Given the description of an element on the screen output the (x, y) to click on. 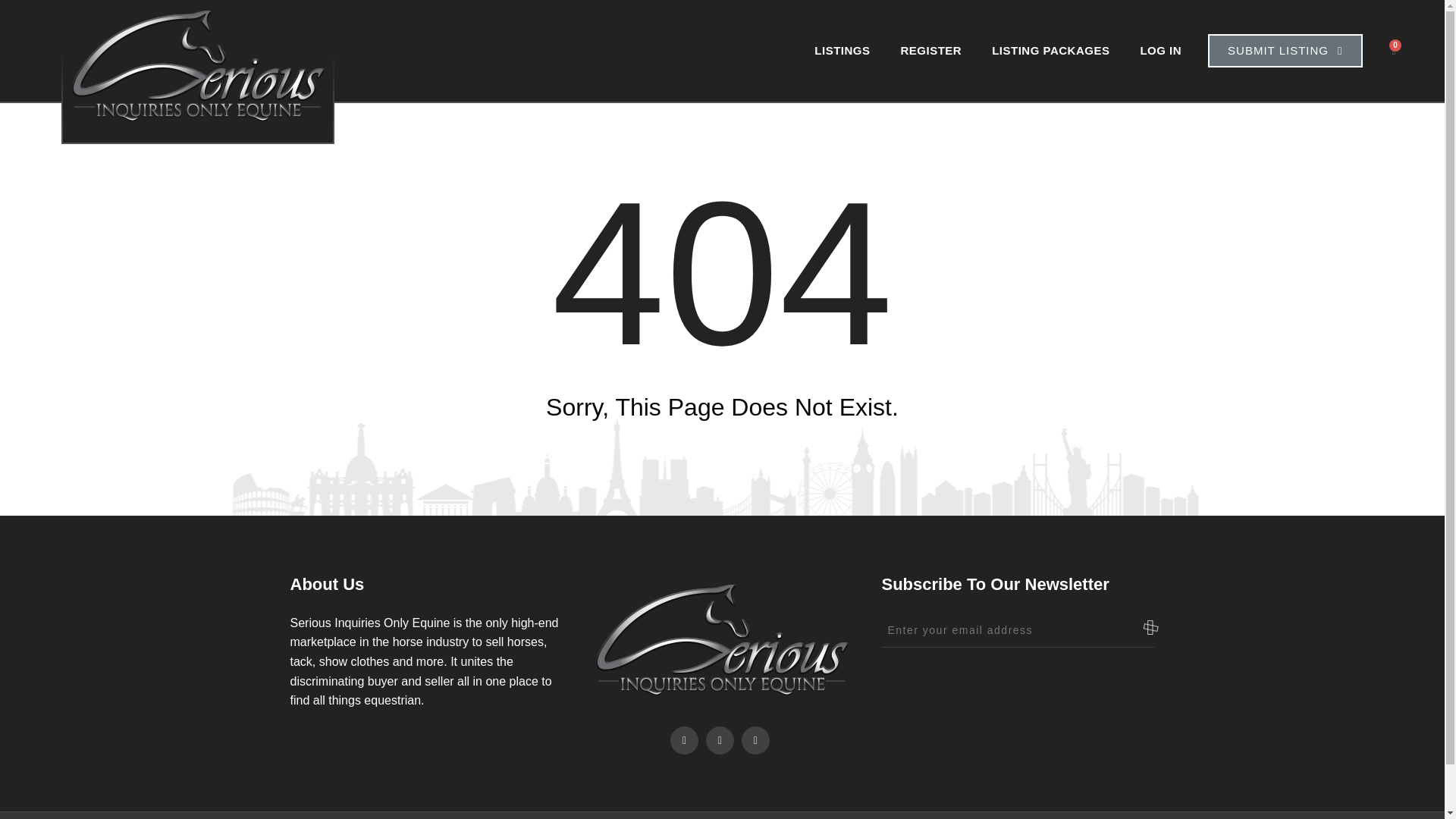
REGISTER (930, 50)
LOG IN (1160, 50)
LISTINGS (842, 50)
0 (1393, 51)
SUBMIT LISTING (1284, 50)
LISTING PACKAGES (1050, 50)
